Given the description of an element on the screen output the (x, y) to click on. 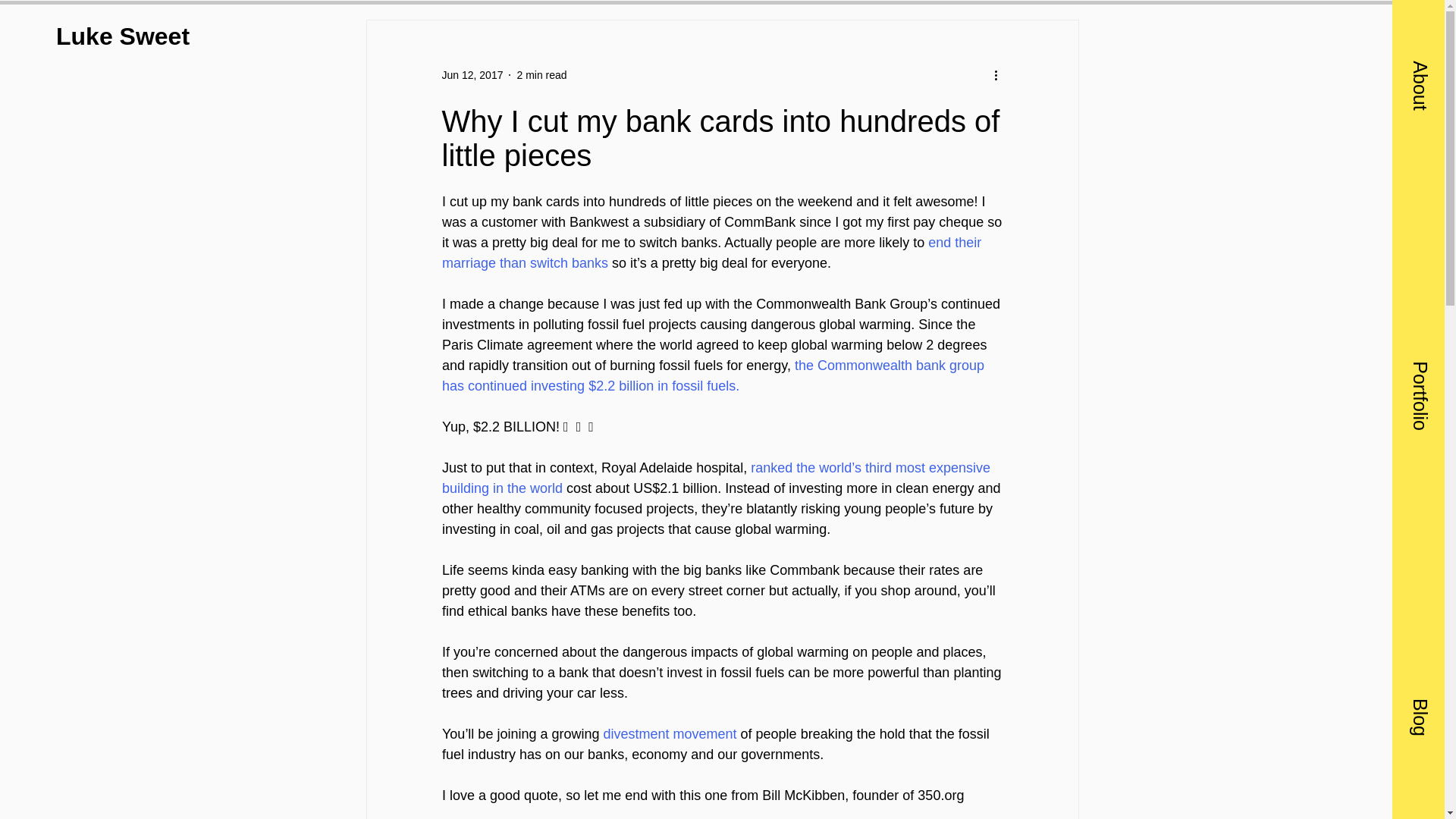
Jun 12, 2017 (471, 73)
divestment movement (669, 734)
Luke Sweet (122, 36)
end their marriage than switch banks (712, 253)
2 min read (541, 73)
